Given the description of an element on the screen output the (x, y) to click on. 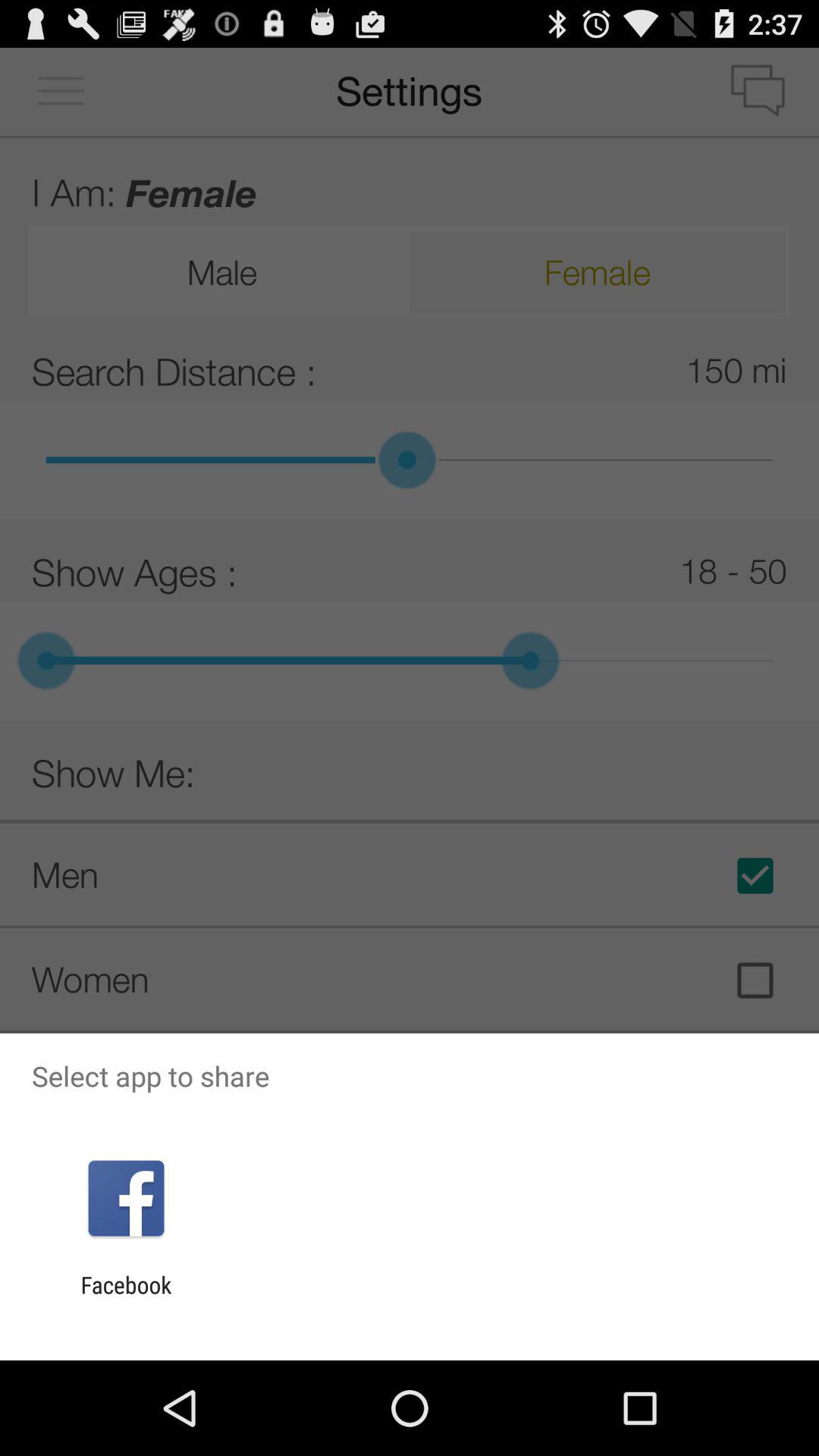
turn on facebook (125, 1298)
